Given the description of an element on the screen output the (x, y) to click on. 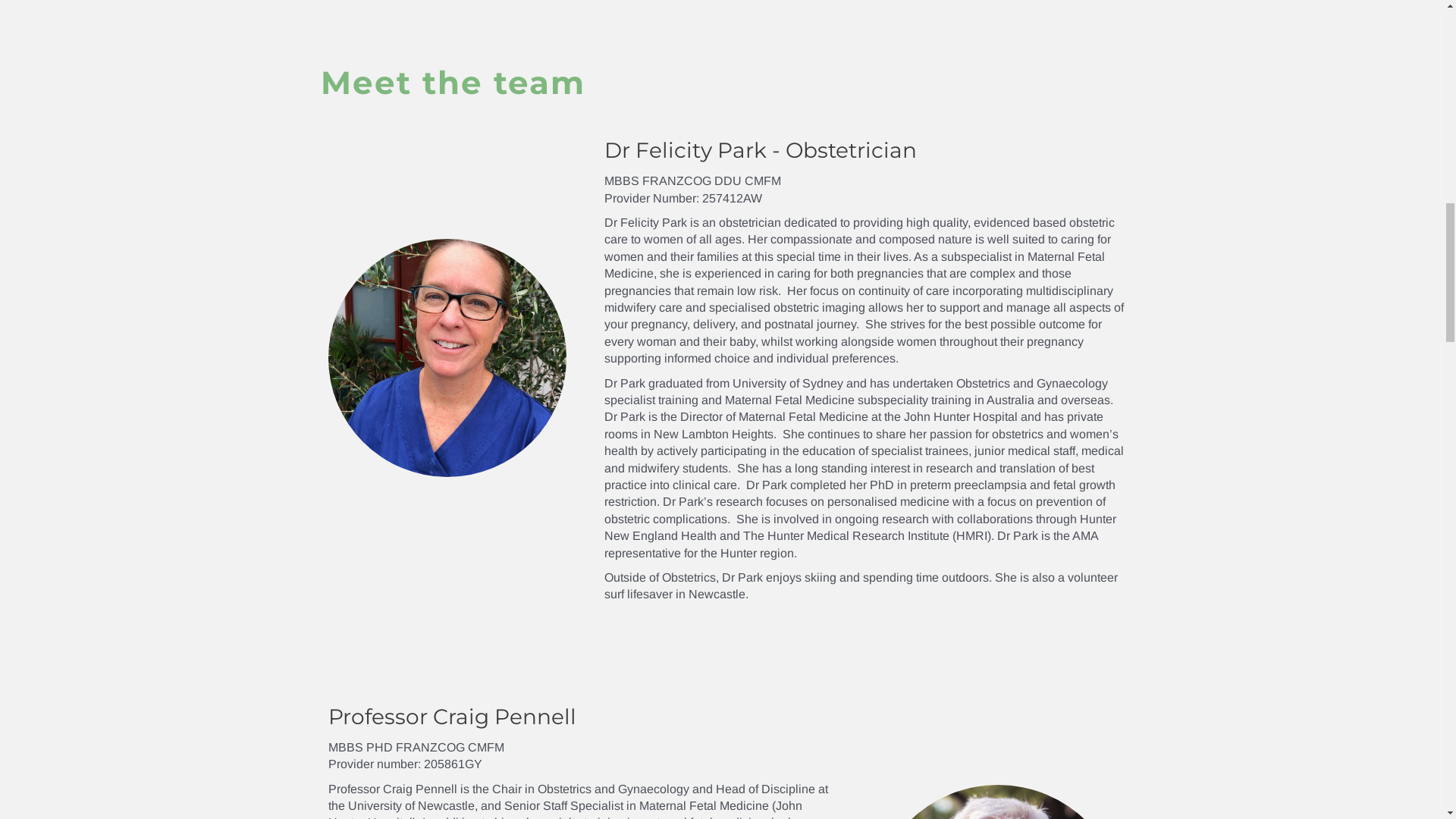
CONTACT US Element type: text (852, 194)
omb Element type: hover (722, 83)
WHEN TO BOOK Element type: text (742, 194)
HOME Element type: text (570, 194)
ABOUT US Element type: text (641, 194)
